Given the description of an element on the screen output the (x, y) to click on. 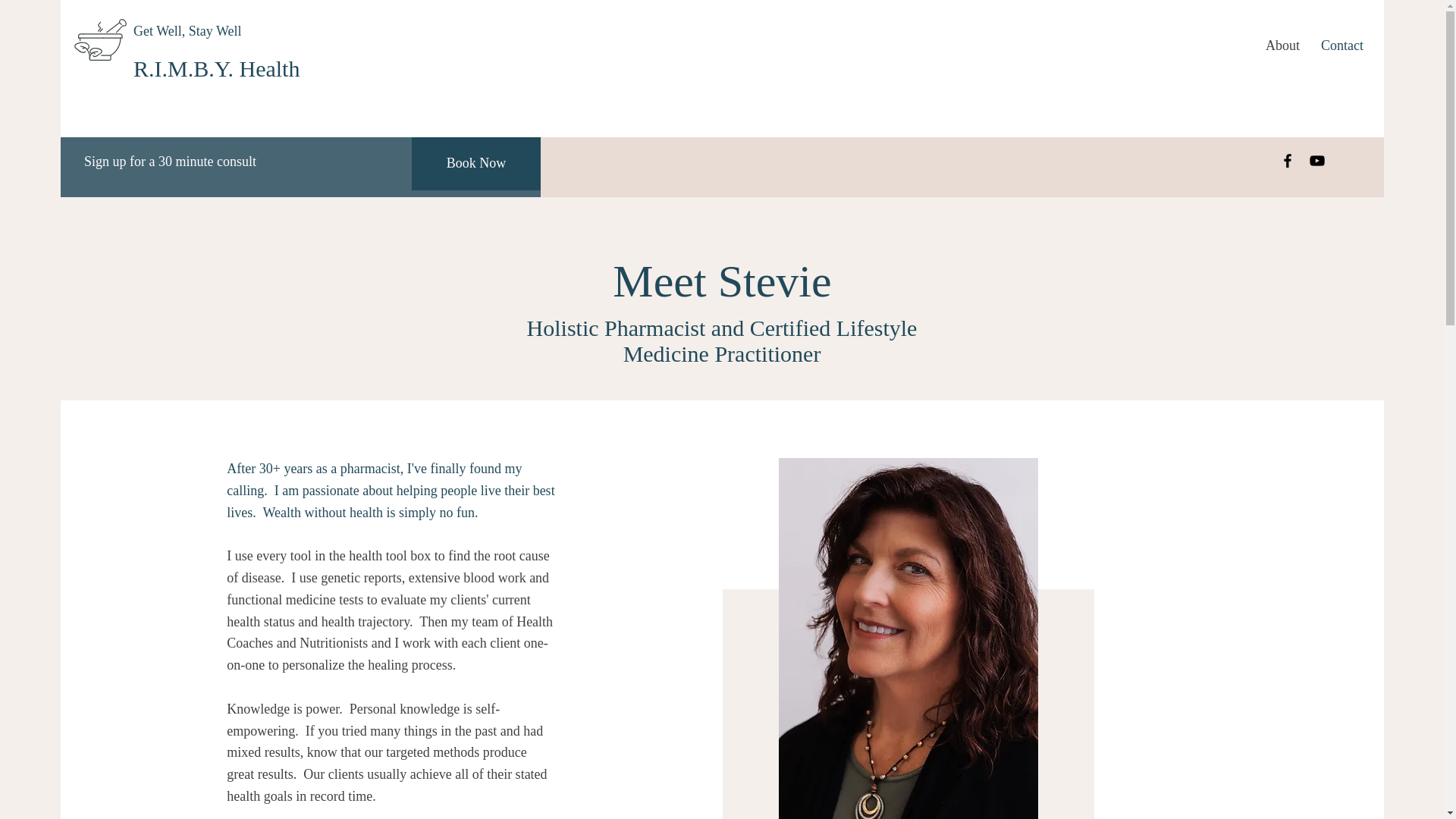
Contact (1341, 45)
Get Well, Stay Well (187, 30)
About (1280, 45)
R.I.M.B.Y. Health (216, 68)
Book Now (476, 163)
